Given the description of an element on the screen output the (x, y) to click on. 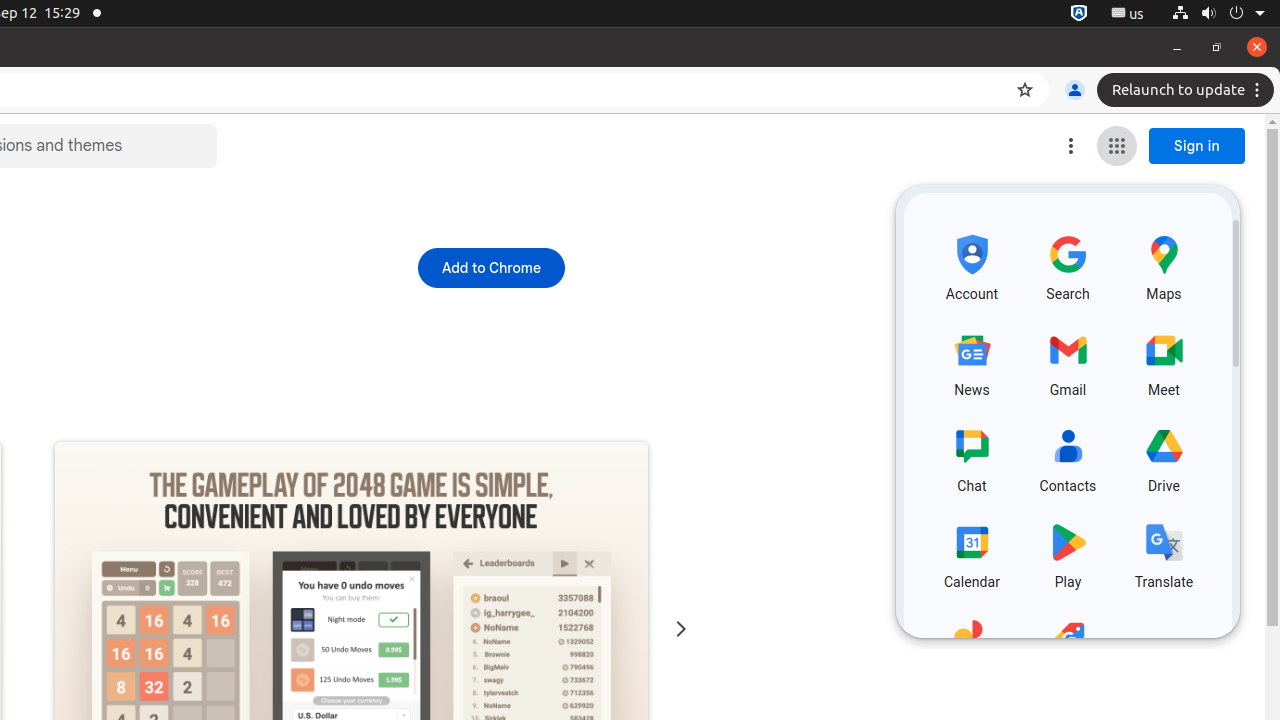
Search, row 1 of 5 and column 2 of 3 in the first section (opens a new tab) Element type: link (1068, 265)
Bookmark this tab Element type: push-button (1025, 90)
Calendar, row 4 of 5 and column 1 of 3 in the first section (opens a new tab) Element type: link (972, 553)
Relaunch to update Element type: push-button (1188, 90)
Contacts, row 3 of 5 and column 2 of 3 in the first section (opens a new tab) Element type: link (1068, 456)
